Given the description of an element on the screen output the (x, y) to click on. 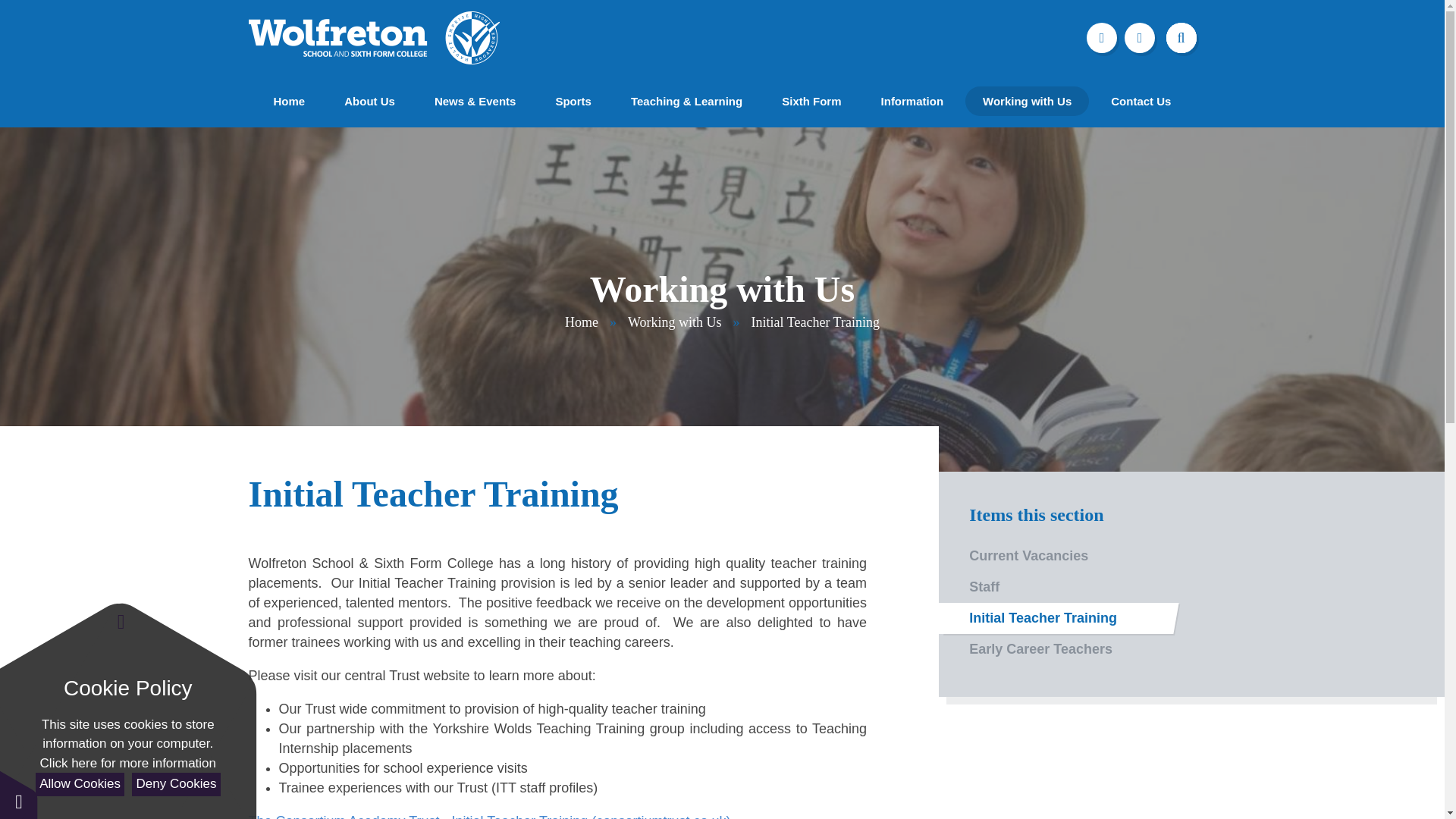
Cookie Settings (18, 794)
Allow Cookies (78, 784)
Home (289, 101)
Twitter (1101, 39)
See cookie policy (127, 763)
Deny Cookies (175, 784)
search (1185, 37)
Secure Area (1139, 39)
About Us (369, 101)
